Given the description of an element on the screen output the (x, y) to click on. 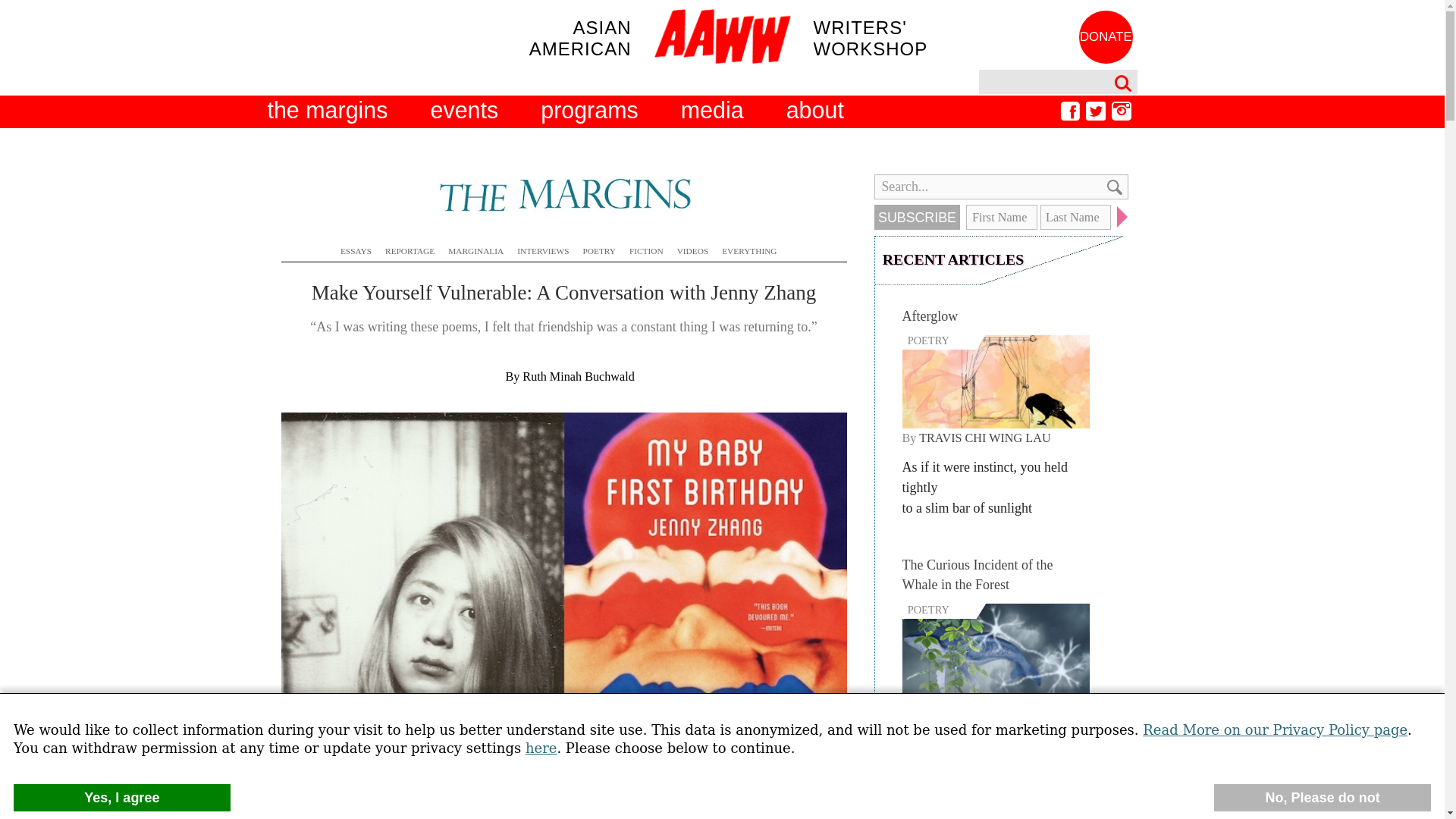
No, Please do not (1322, 797)
Yes, I agree (121, 797)
Search... (999, 186)
